Given the description of an element on the screen output the (x, y) to click on. 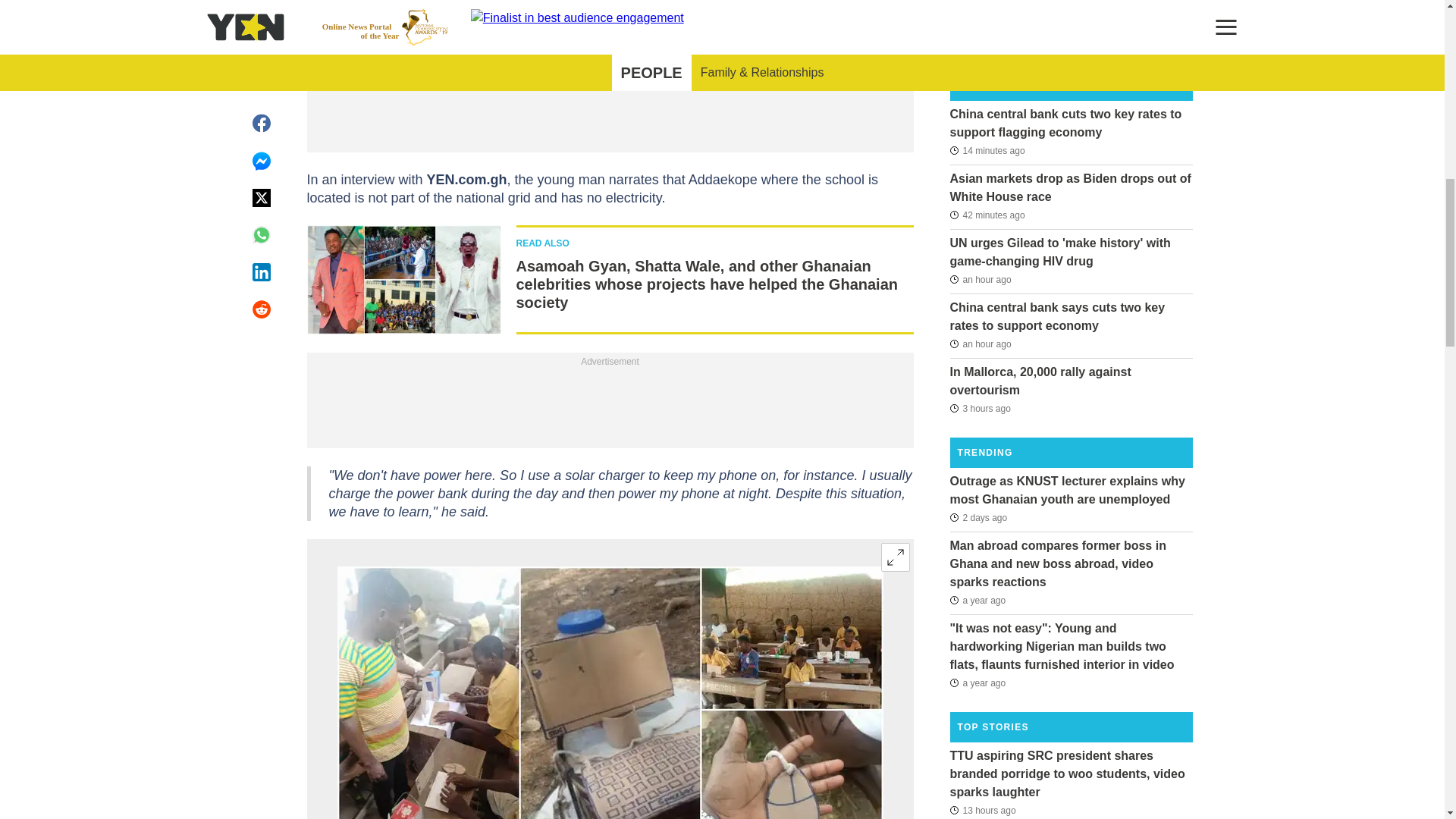
Expand image (895, 556)
2024-07-19T19:54:05Z (978, 516)
2024-07-21T13:25:43Z (981, 809)
2024-07-22T01:49:03Z (979, 343)
2024-07-22T02:41:03Z (987, 215)
2024-07-22T03:09:03Z (987, 149)
2023-05-31T12:53:07Z (977, 682)
2023-04-27T18:18:50Z (977, 600)
2024-07-22T00:04:03Z (979, 407)
2024-07-22T02:09:03Z (979, 279)
